Given the description of an element on the screen output the (x, y) to click on. 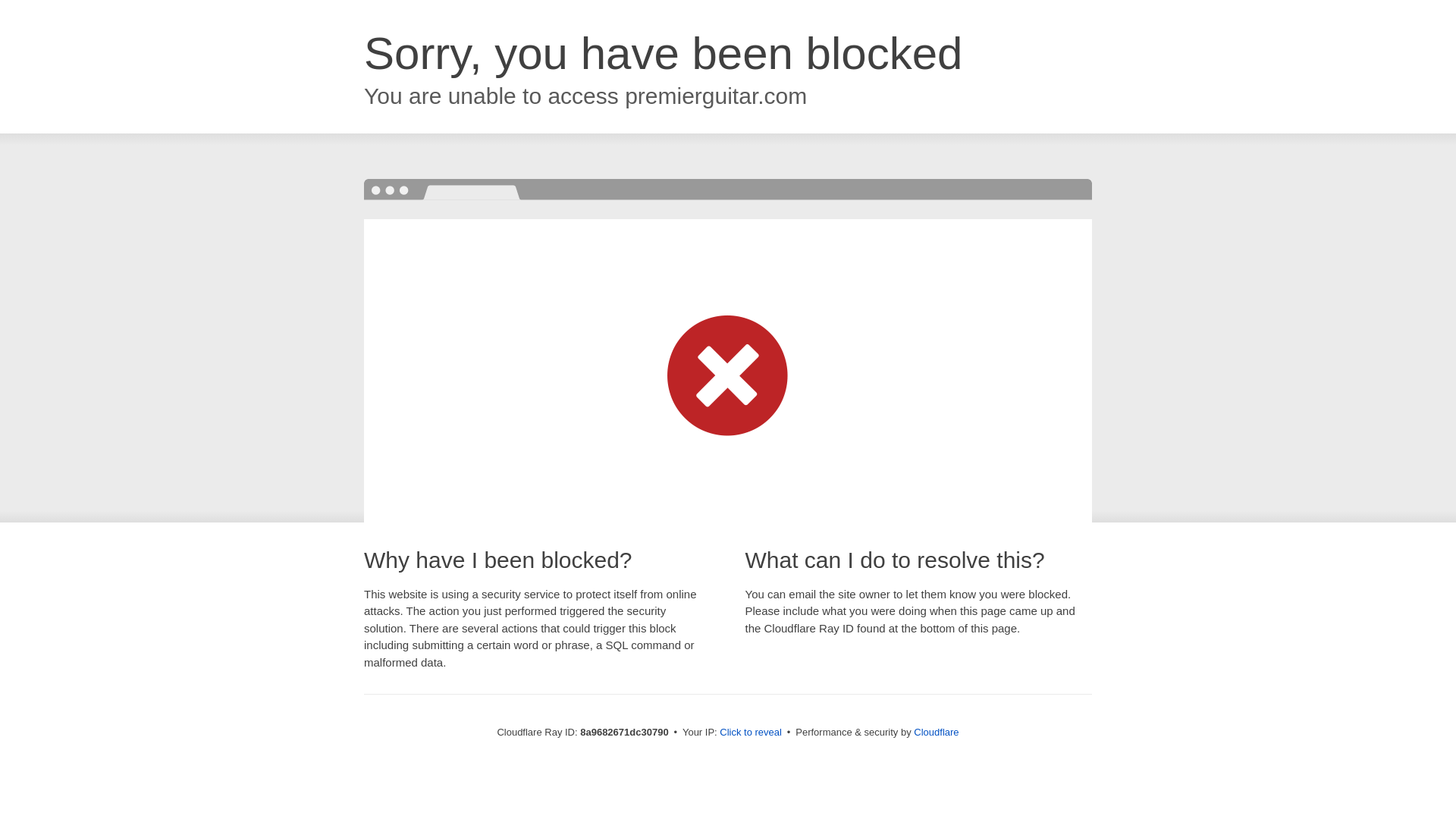
Click to reveal (750, 732)
Cloudflare (936, 731)
